Given the description of an element on the screen output the (x, y) to click on. 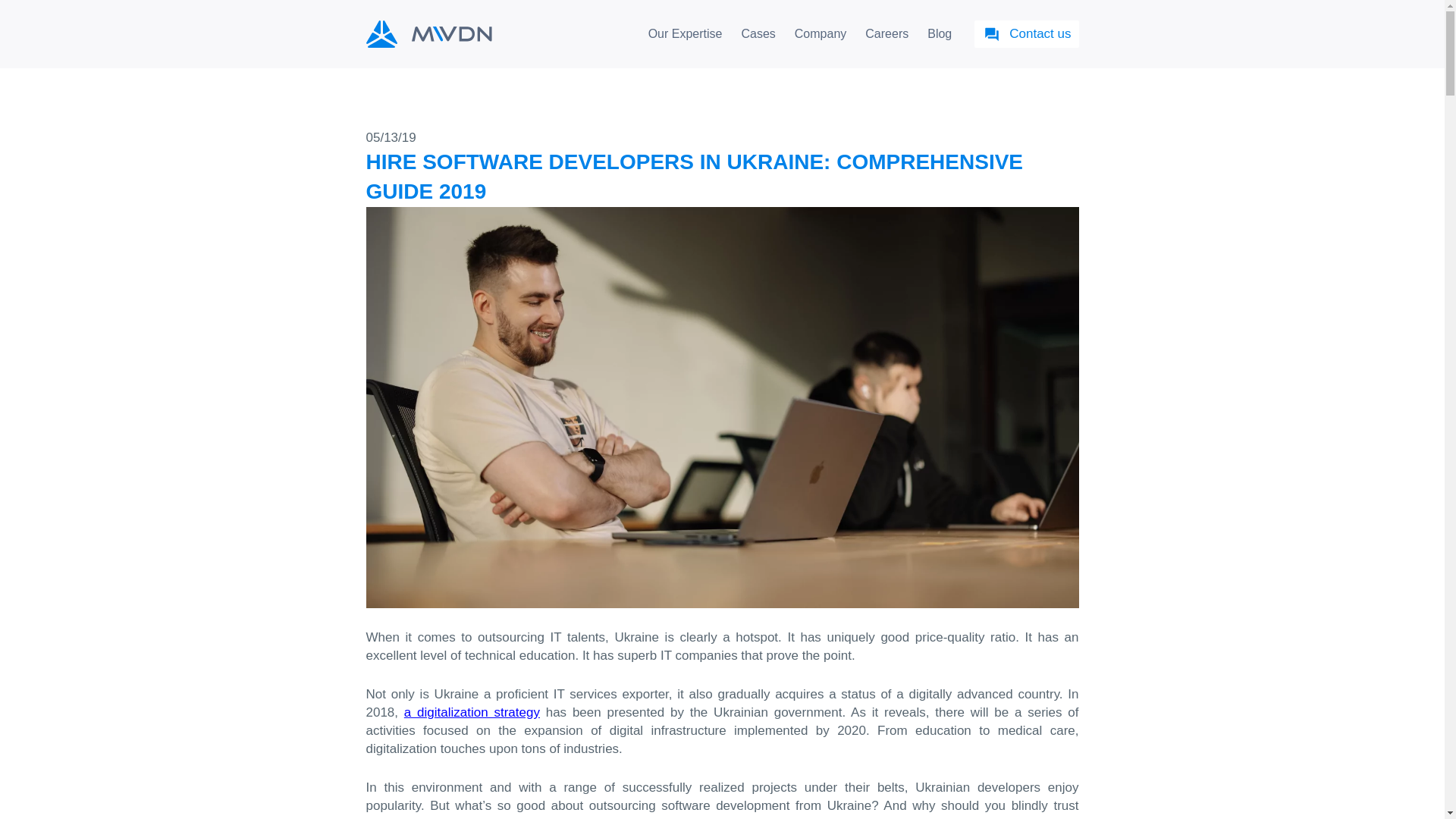
Careers (886, 33)
Company (820, 33)
Cases (758, 33)
a digitalization strategy (472, 712)
Contact us (1026, 33)
Our Expertise (685, 33)
Blog (939, 33)
